Given the description of an element on the screen output the (x, y) to click on. 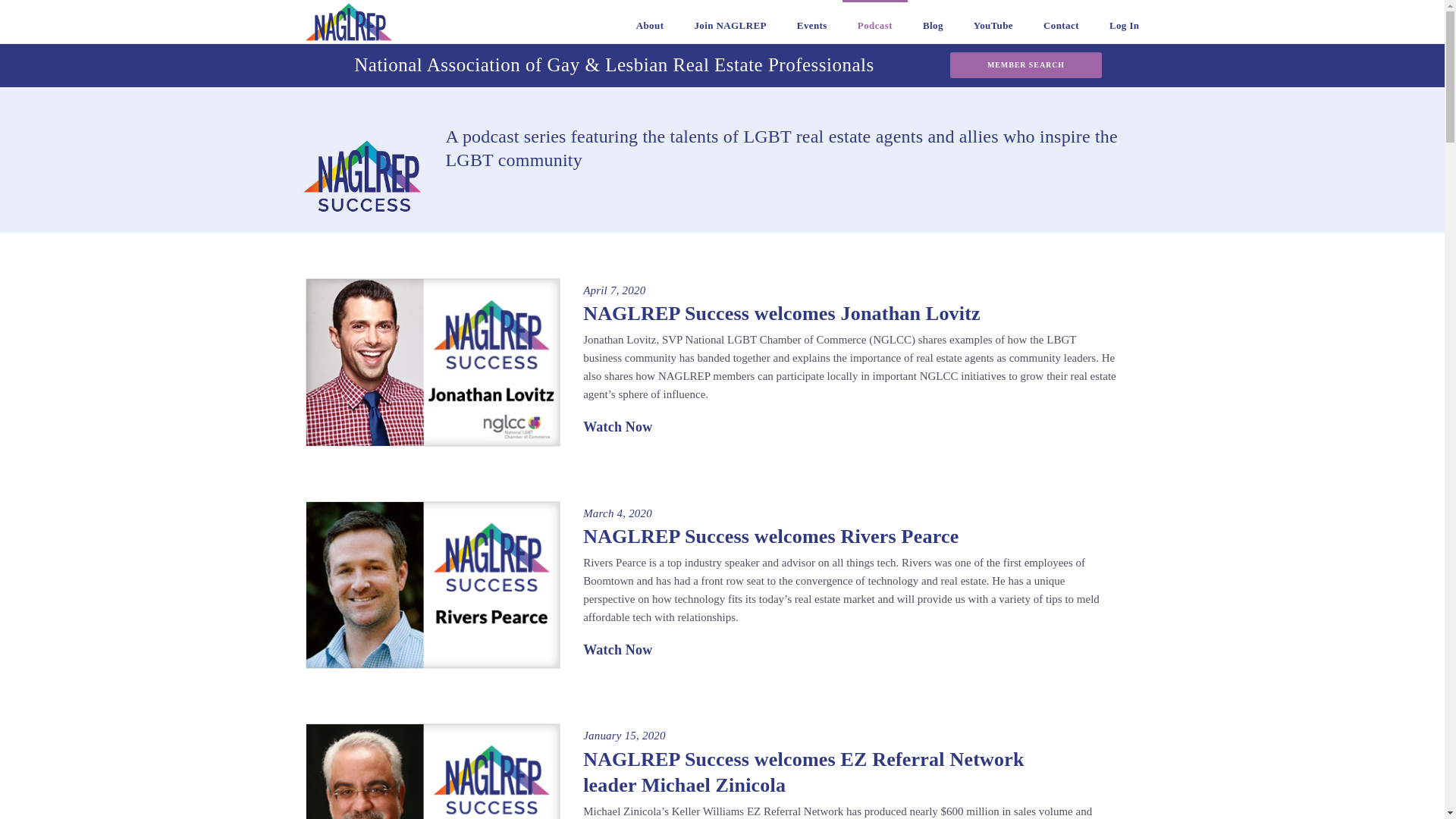
Contact (1060, 22)
About (650, 22)
Contact (1060, 22)
Events (812, 22)
Blog (932, 22)
MEMBER SEARCH (1024, 64)
Log In (1124, 22)
Join NAGLREP (729, 22)
YouTube (992, 22)
Join NAGLREP (729, 22)
Podcast (875, 22)
Log In (1124, 22)
About (650, 22)
Blog (932, 22)
Podcast (875, 22)
